Given the description of an element on the screen output the (x, y) to click on. 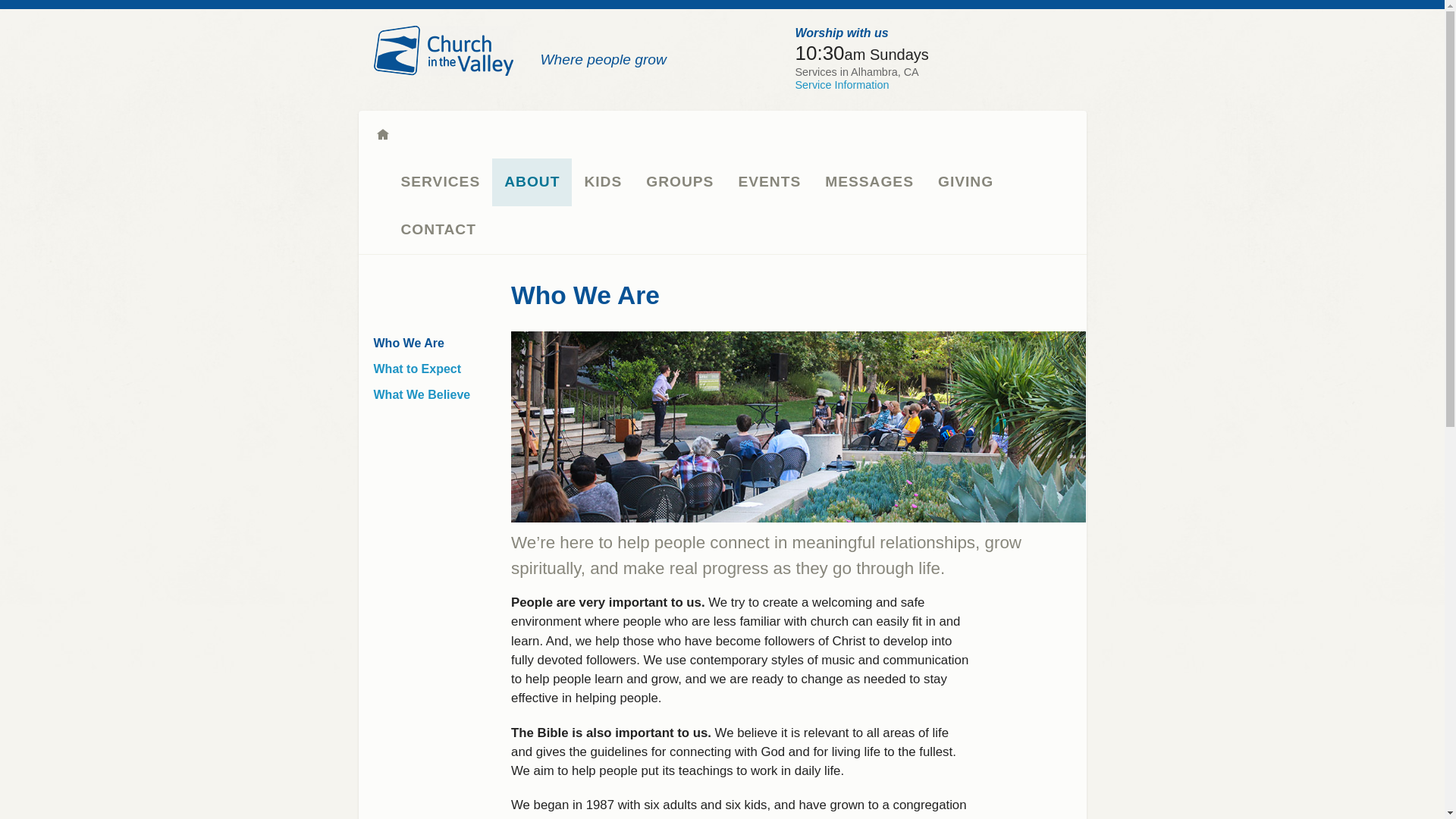
MESSAGES (869, 182)
About Church in the Valley (532, 182)
GROUPS (679, 182)
Online Giving (966, 182)
SERVICES (440, 182)
Sunday Services (440, 182)
ABOUT (532, 182)
Visit our church in Alhambra, CA (841, 84)
CONTACT (442, 229)
KIDS (602, 182)
What to Expect (420, 369)
Contact Us (442, 229)
Christian teaching, listen online (869, 182)
Upcoming events near Alhambra, CA (768, 182)
